Given the description of an element on the screen output the (x, y) to click on. 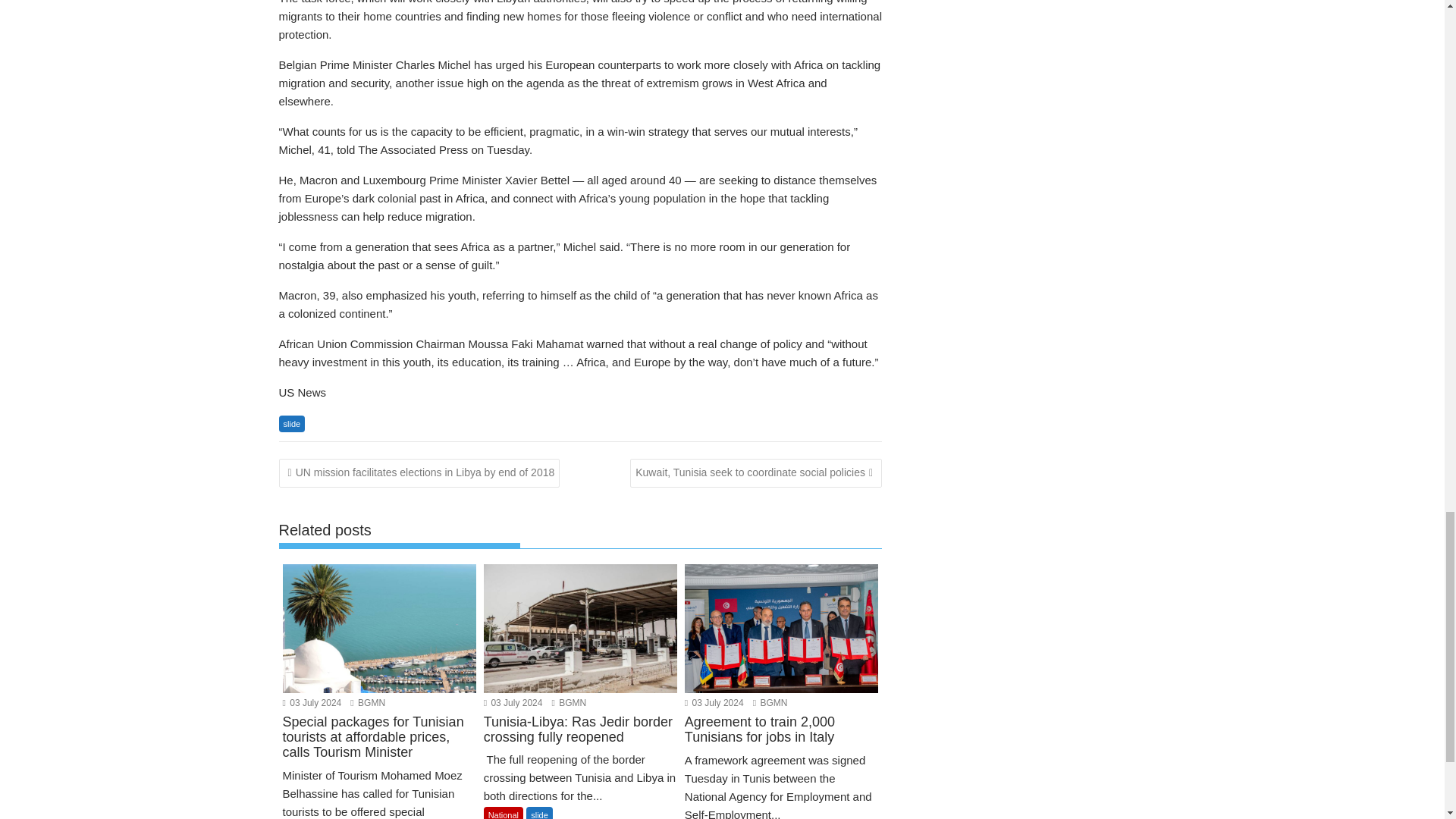
BGMN (568, 702)
BGMN (769, 702)
BGMN (367, 702)
